Given the description of an element on the screen output the (x, y) to click on. 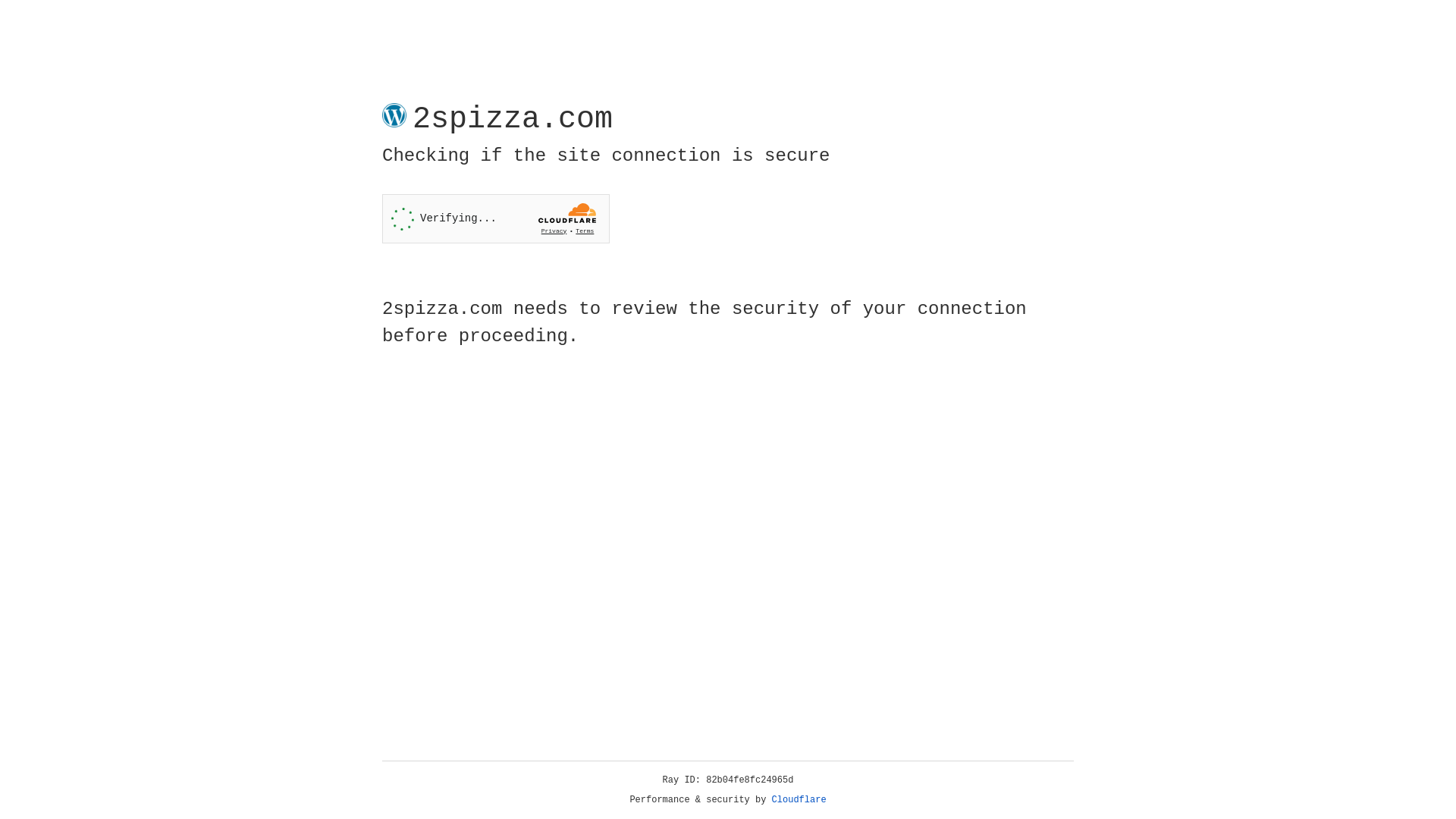
Cloudflare Element type: text (798, 799)
Widget containing a Cloudflare security challenge Element type: hover (495, 218)
